Given the description of an element on the screen output the (x, y) to click on. 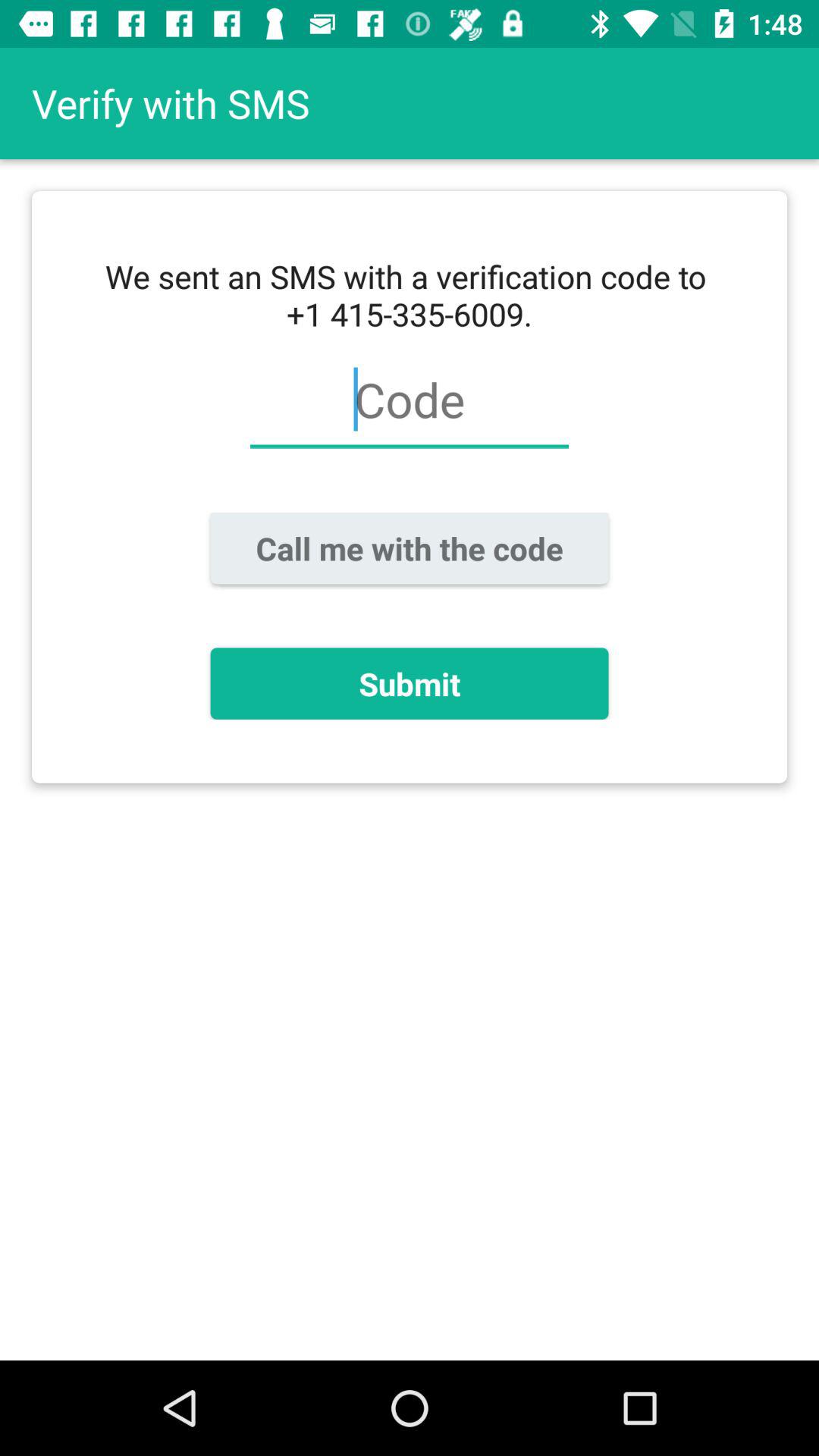
press submit (409, 683)
